Given the description of an element on the screen output the (x, y) to click on. 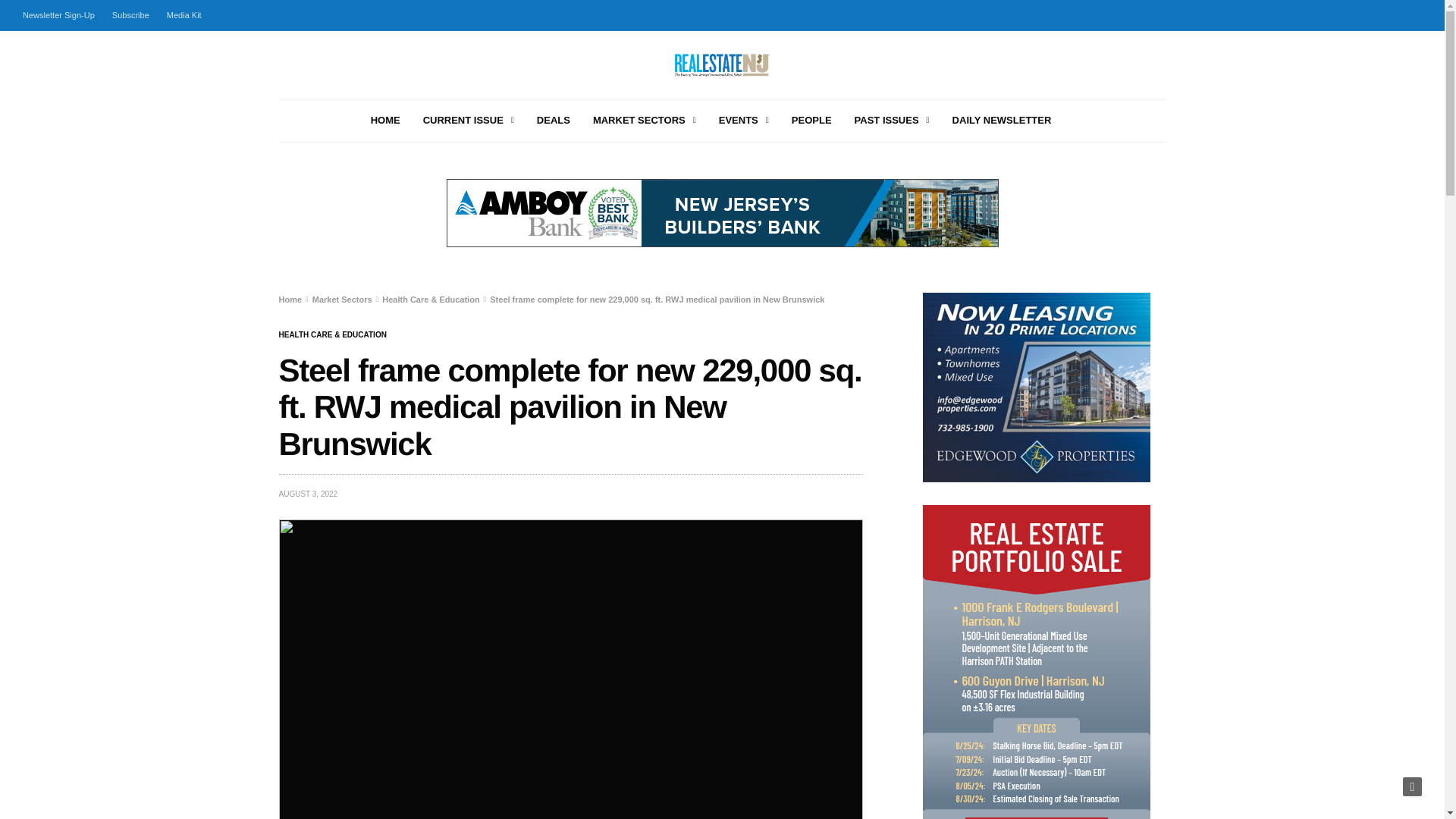
CURRENT ISSUE (468, 120)
PAST ISSUES (892, 120)
DAILY NEWSLETTER (1001, 120)
Newsletter Sign-Up (62, 15)
Media Kit (183, 15)
Home (290, 298)
MARKET SECTORS (643, 120)
Subscribe (130, 15)
EVENTS (743, 120)
PEOPLE (811, 120)
Market Sectors (342, 298)
HOME (385, 120)
DEALS (553, 120)
